Given the description of an element on the screen output the (x, y) to click on. 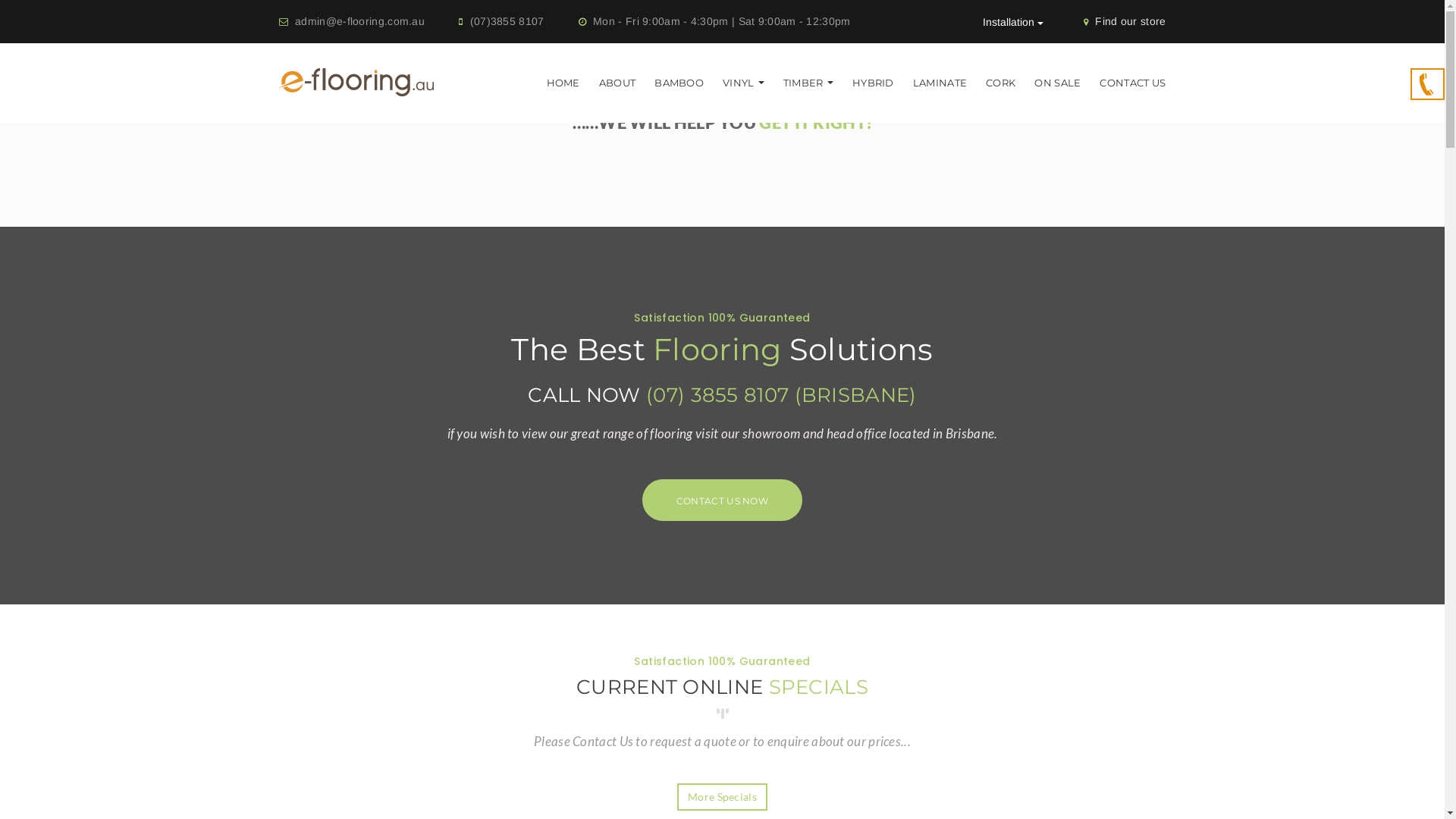
BAMBOO Element type: text (678, 82)
(07)3855 8107 Element type: text (507, 21)
Find our store Element type: text (1130, 21)
More Specials Element type: text (722, 796)
ON SALE Element type: text (1057, 82)
Installation Element type: text (1012, 21)
TIMBER Element type: text (808, 82)
CORK Element type: text (1000, 82)
CONTACT US NOW Element type: text (722, 499)
VINYL Element type: text (743, 82)
ABOUT Element type: text (617, 82)
HOME Element type: text (563, 82)
HYBRID Element type: text (873, 82)
LAMINATE Element type: text (939, 82)
CONTACT US Element type: text (1132, 82)
admin@e-flooring.com.au Element type: text (359, 21)
